Given the description of an element on the screen output the (x, y) to click on. 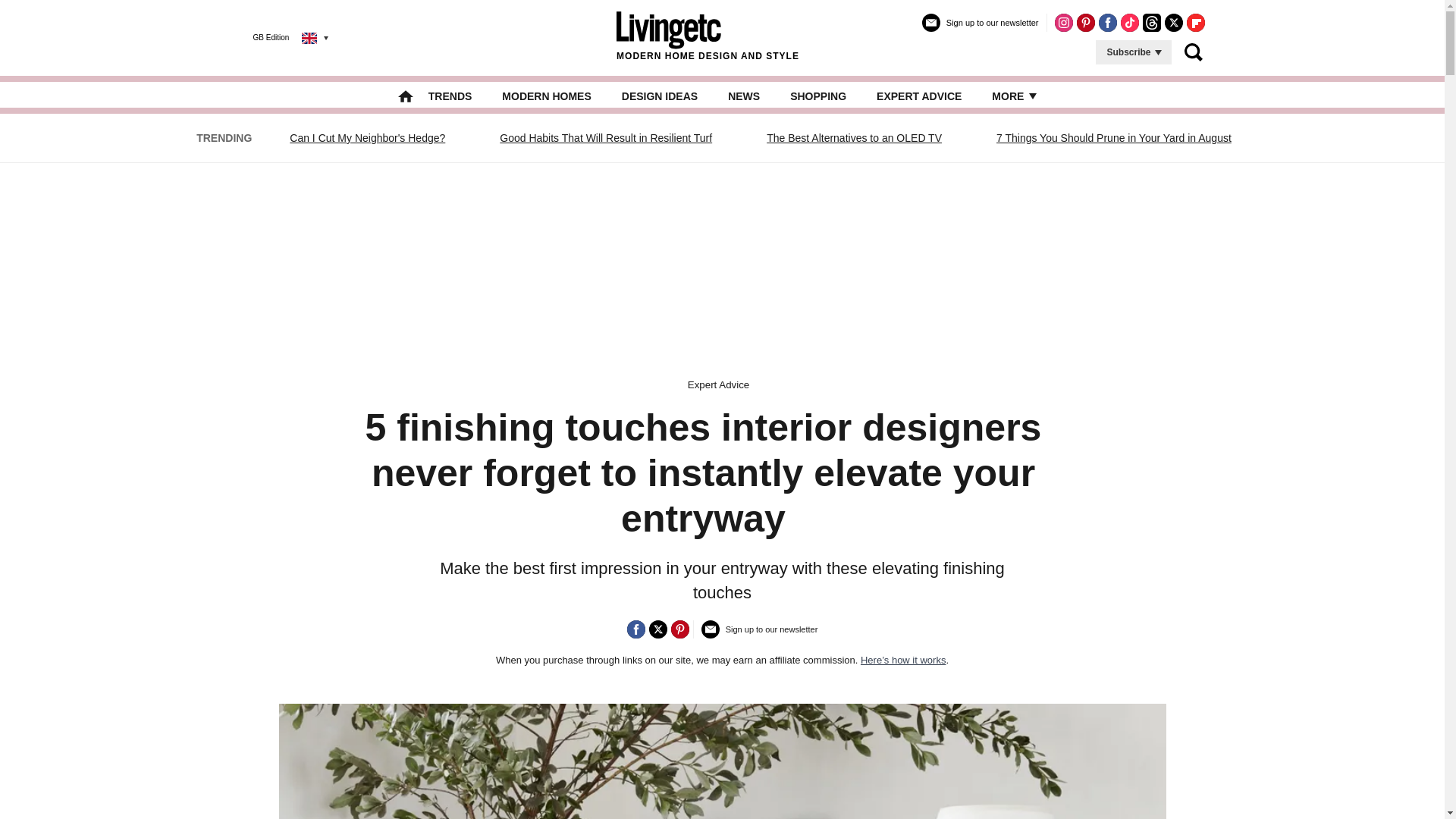
TRENDS (449, 96)
MODERN HOME DESIGN AND STYLE (707, 37)
Good Habits That Will Result in Resilient Turf (606, 137)
7 Things You Should Prune in Your Yard in August (1113, 137)
Expert Advice (718, 384)
DESIGN IDEAS (659, 96)
SHOPPING (817, 96)
Can I Cut My Neighbor's Hedge? (366, 137)
Sign up to our newsletter (759, 634)
Sign up to our newsletter (980, 28)
